Given the description of an element on the screen output the (x, y) to click on. 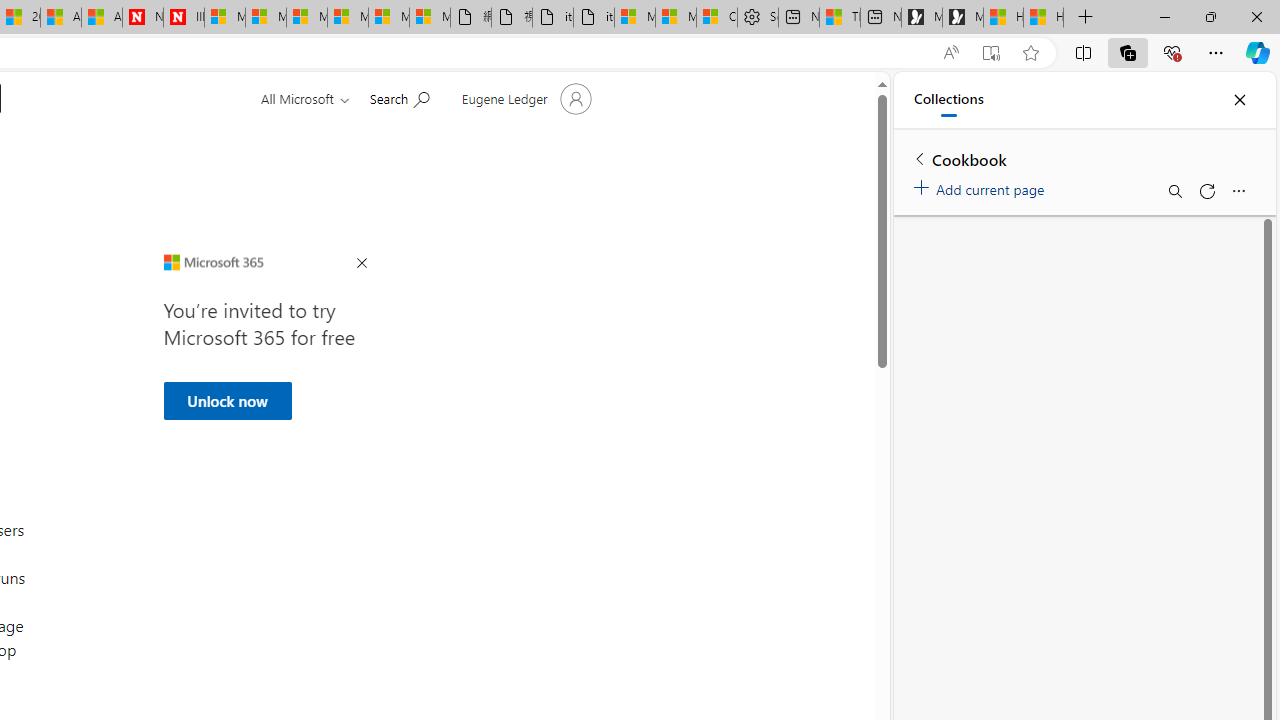
How to Use a TV as a Computer Monitor (1043, 17)
Back to list of collections (920, 158)
